Given the description of an element on the screen output the (x, y) to click on. 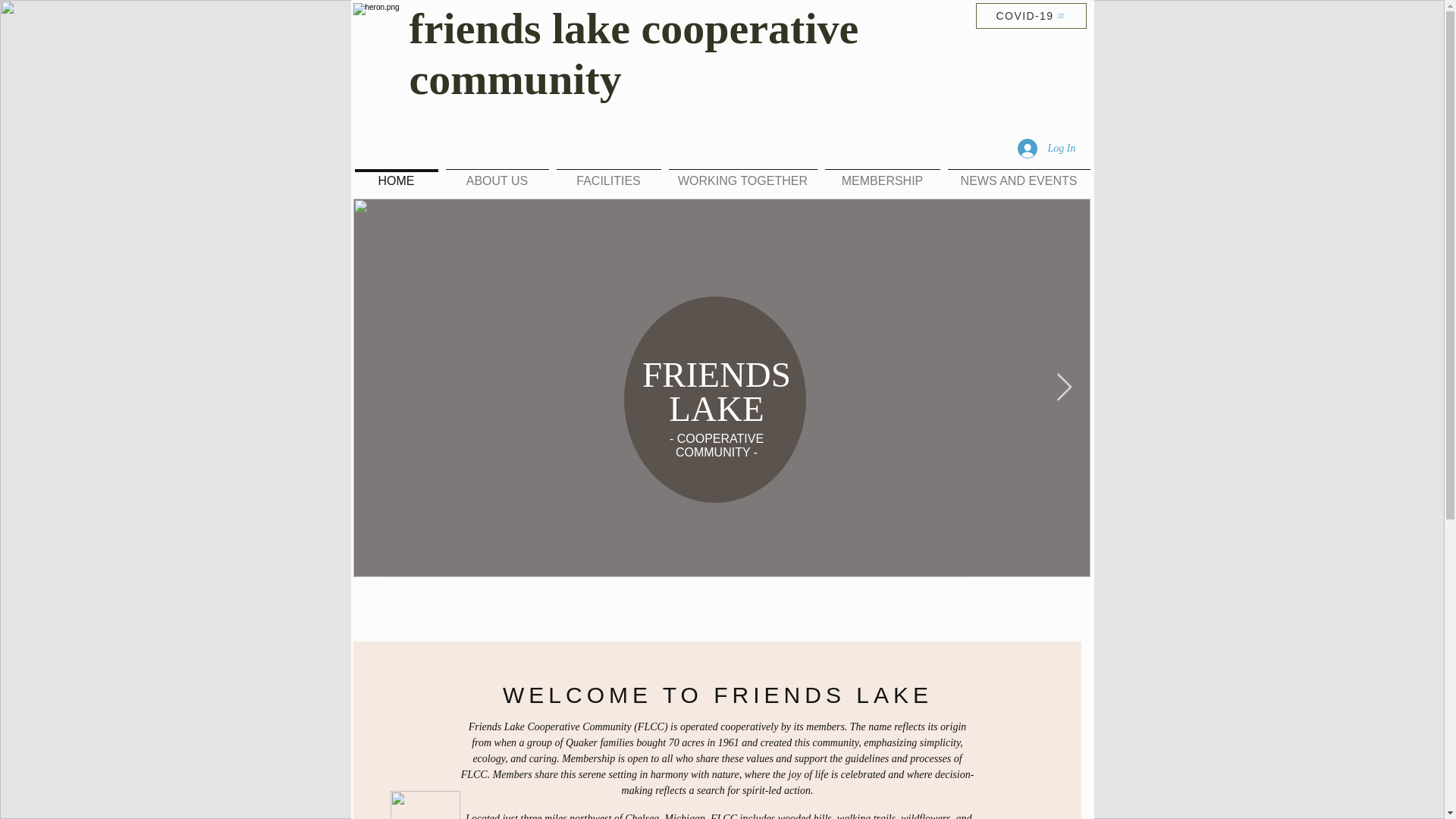
COVID-19 (1030, 15)
Log In (1046, 148)
HOME (395, 173)
ABOUT US (496, 173)
FACILITIES (607, 173)
MEMBERSHIP (882, 173)
WORKING TOGETHER (742, 173)
